Given the description of an element on the screen output the (x, y) to click on. 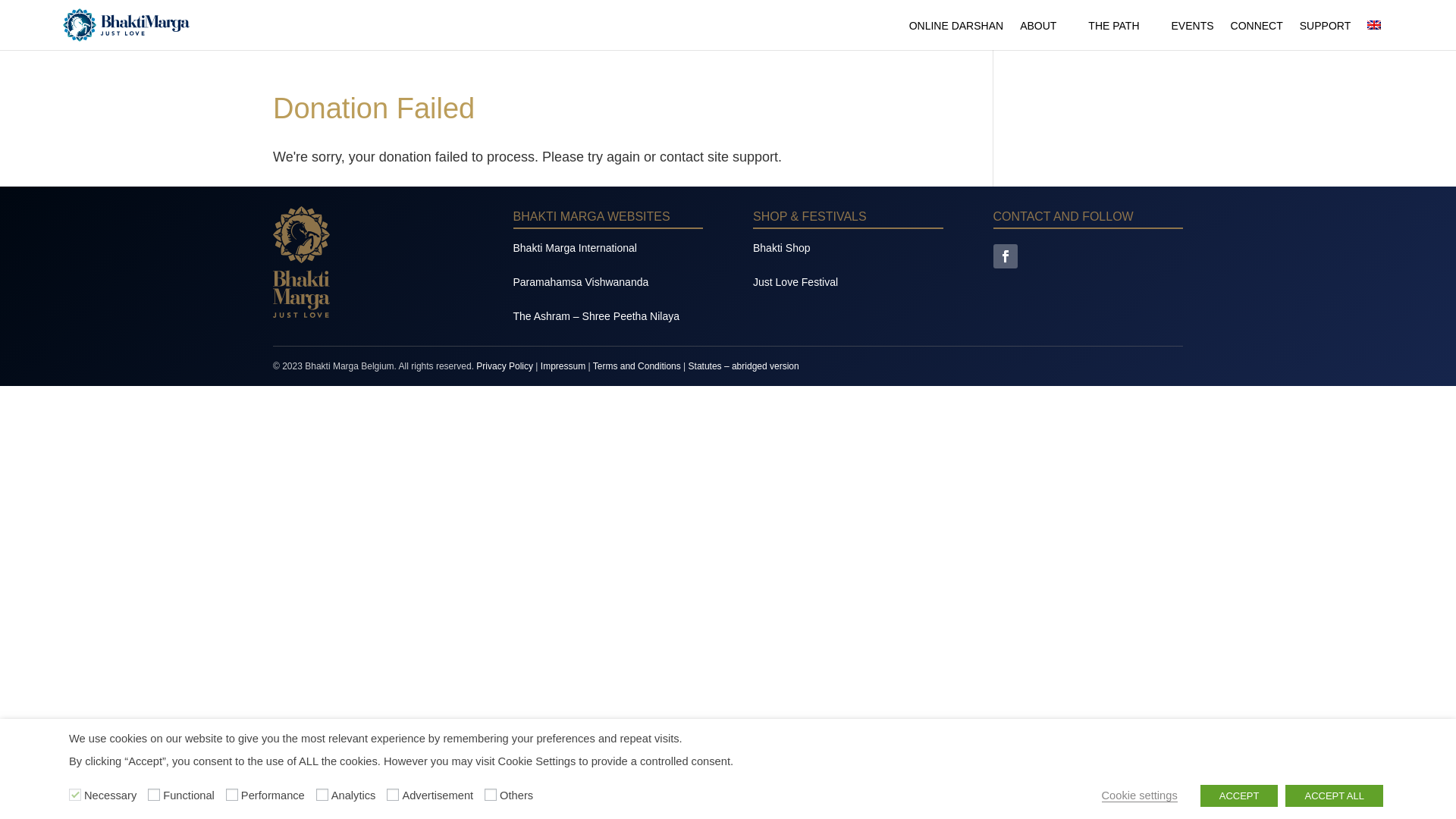
THE PATH Element type: text (1121, 35)
Follow on Facebook Element type: hover (1005, 256)
Privacy Policy Element type: text (504, 365)
EVENTS Element type: text (1192, 35)
Cookie settings Element type: text (1139, 795)
Bhakti Marga International Element type: text (574, 247)
Paramahamsa Vishwananda Element type: text (580, 282)
Terms and Conditions Element type: text (636, 365)
Just Love Festival Element type: text (795, 282)
Bhakti Shop Element type: text (781, 247)
SUPPORT Element type: text (1324, 35)
ONLINE DARSHAN Element type: text (956, 35)
Impressum Element type: text (562, 365)
ACCEPT Element type: text (1239, 795)
CONNECT Element type: text (1256, 35)
ACCEPT ALL Element type: text (1334, 795)
ABOUT Element type: text (1045, 35)
